Given the description of an element on the screen output the (x, y) to click on. 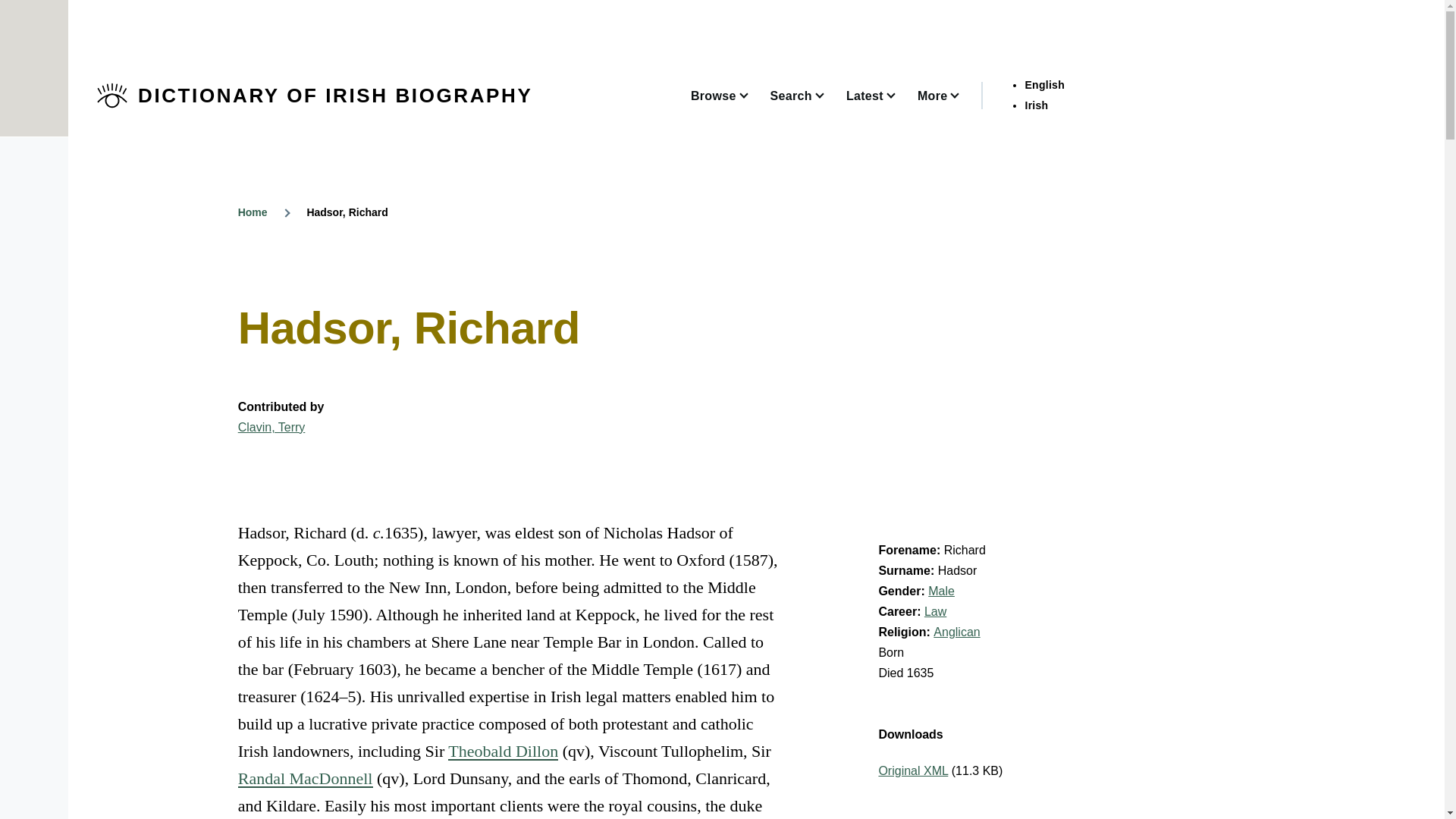
Randal MacDonnell (305, 778)
Clavin, Terry (271, 427)
Theobald Dillon (502, 751)
Home (335, 95)
Skip to main content (595, 6)
Home (252, 212)
DICTIONARY OF IRISH BIOGRAPHY (335, 95)
